Given the description of an element on the screen output the (x, y) to click on. 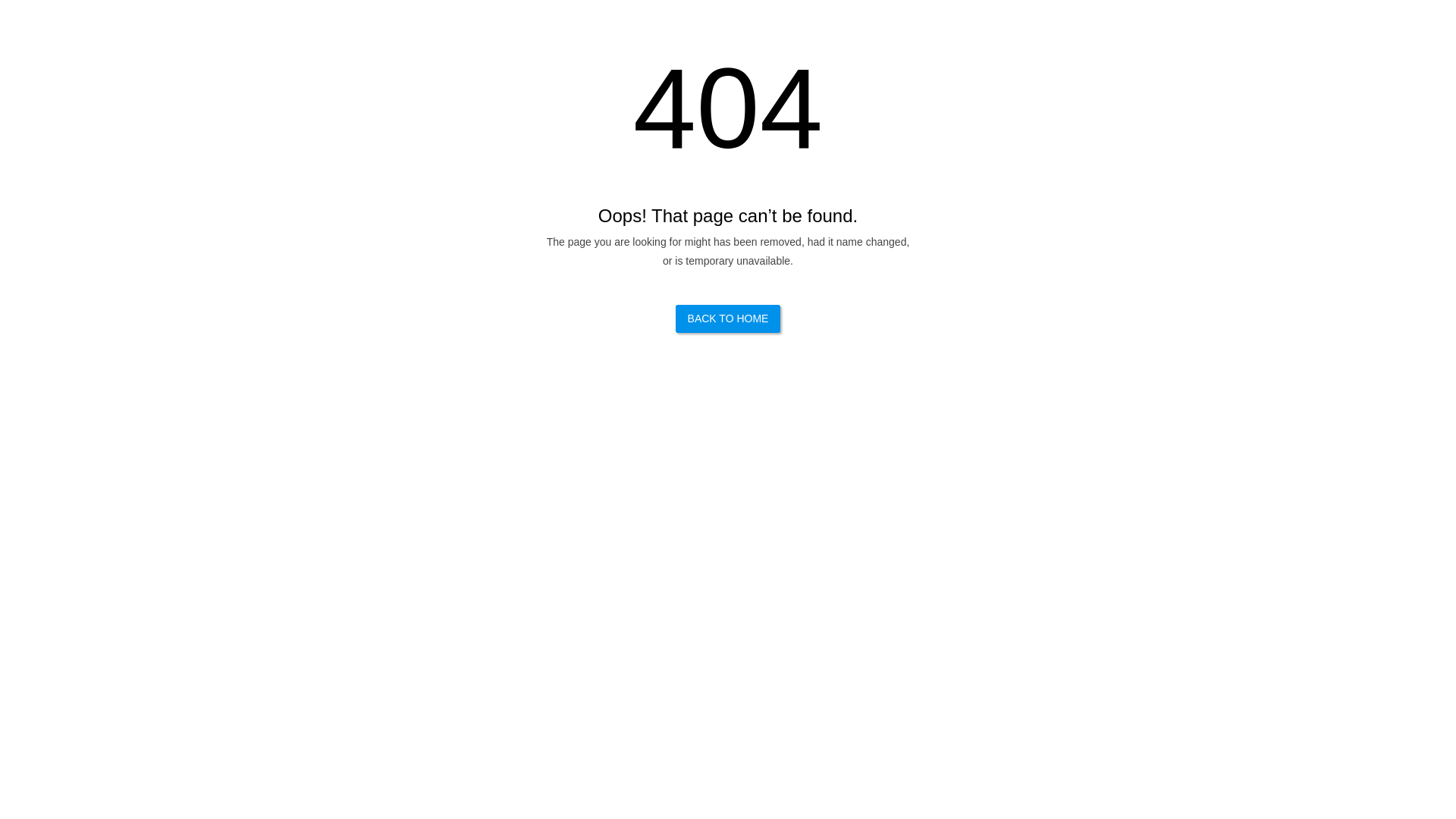
BACK TO HOME Element type: text (728, 318)
